Given the description of an element on the screen output the (x, y) to click on. 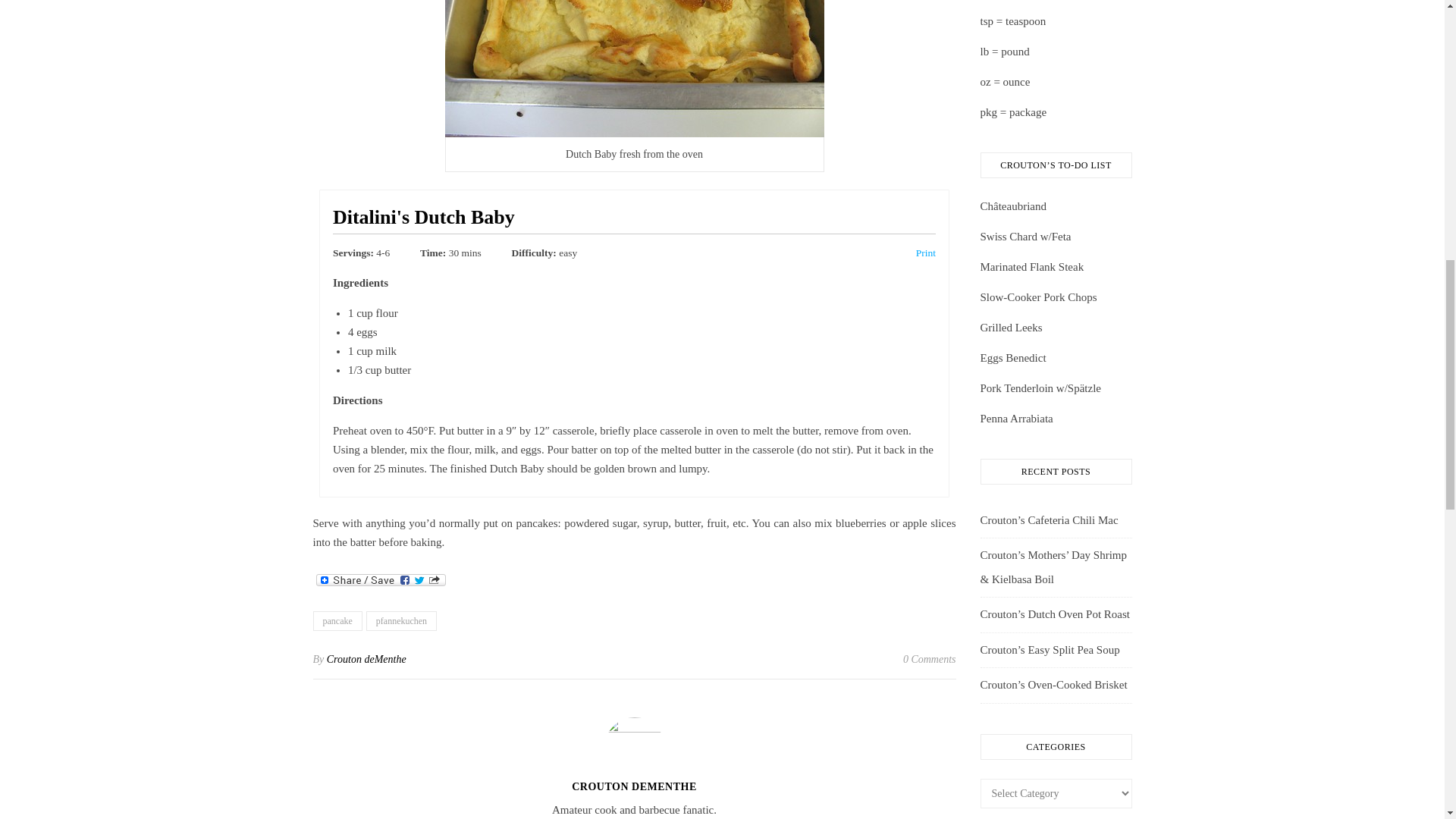
pancake (337, 620)
0 Comments (929, 659)
pfannekuchen (401, 620)
Posts by Crouton deMenthe (366, 659)
Print (925, 252)
CROUTON DEMENTHE (633, 786)
Crouton deMenthe (366, 659)
Posts by Crouton deMenthe (633, 786)
